Given the description of an element on the screen output the (x, y) to click on. 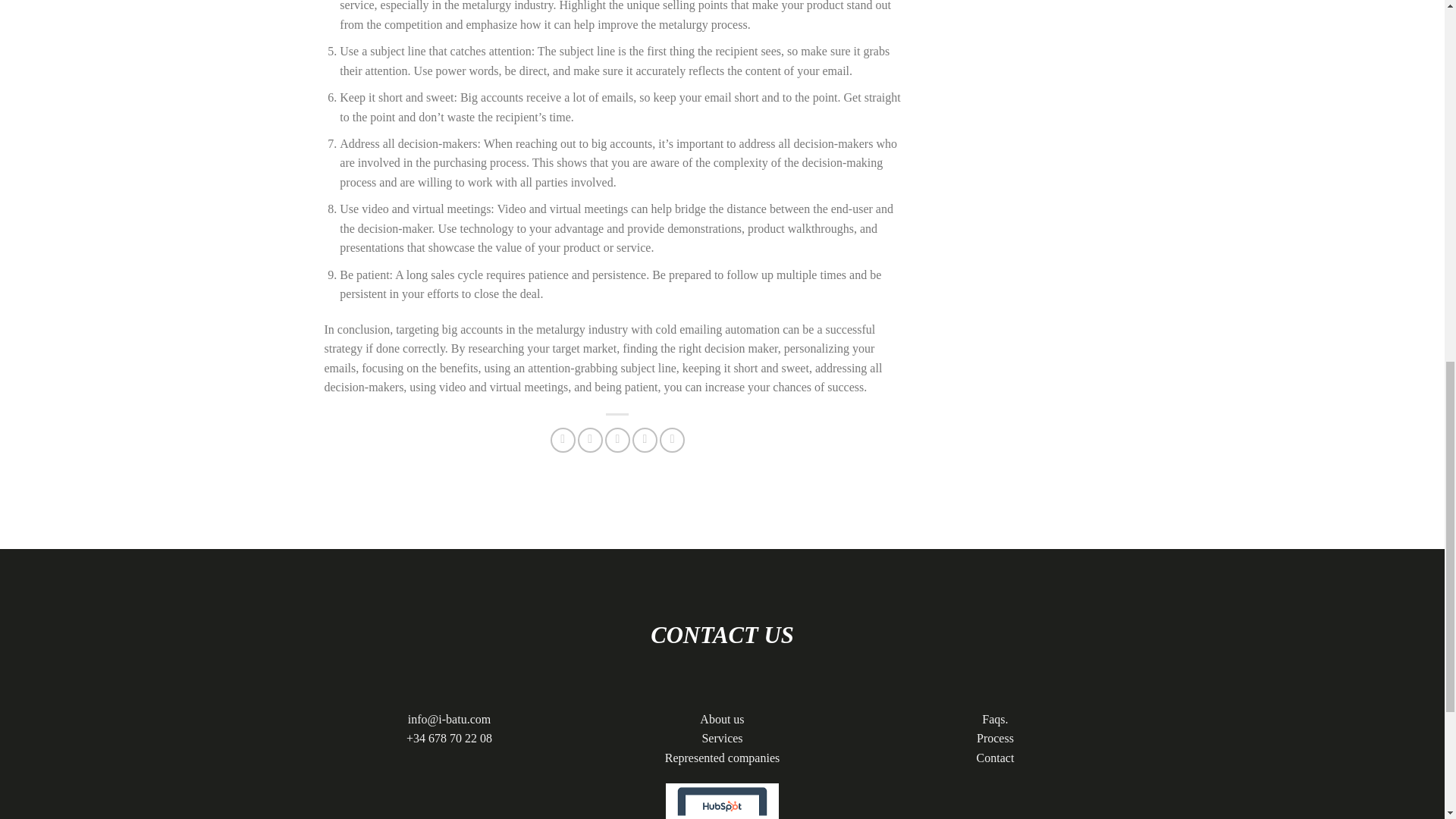
Email to a Friend (617, 439)
Share on LinkedIn (671, 439)
Pin on Pinterest (644, 439)
Share on Twitter (590, 439)
Share on Facebook (562, 439)
